Given the description of an element on the screen output the (x, y) to click on. 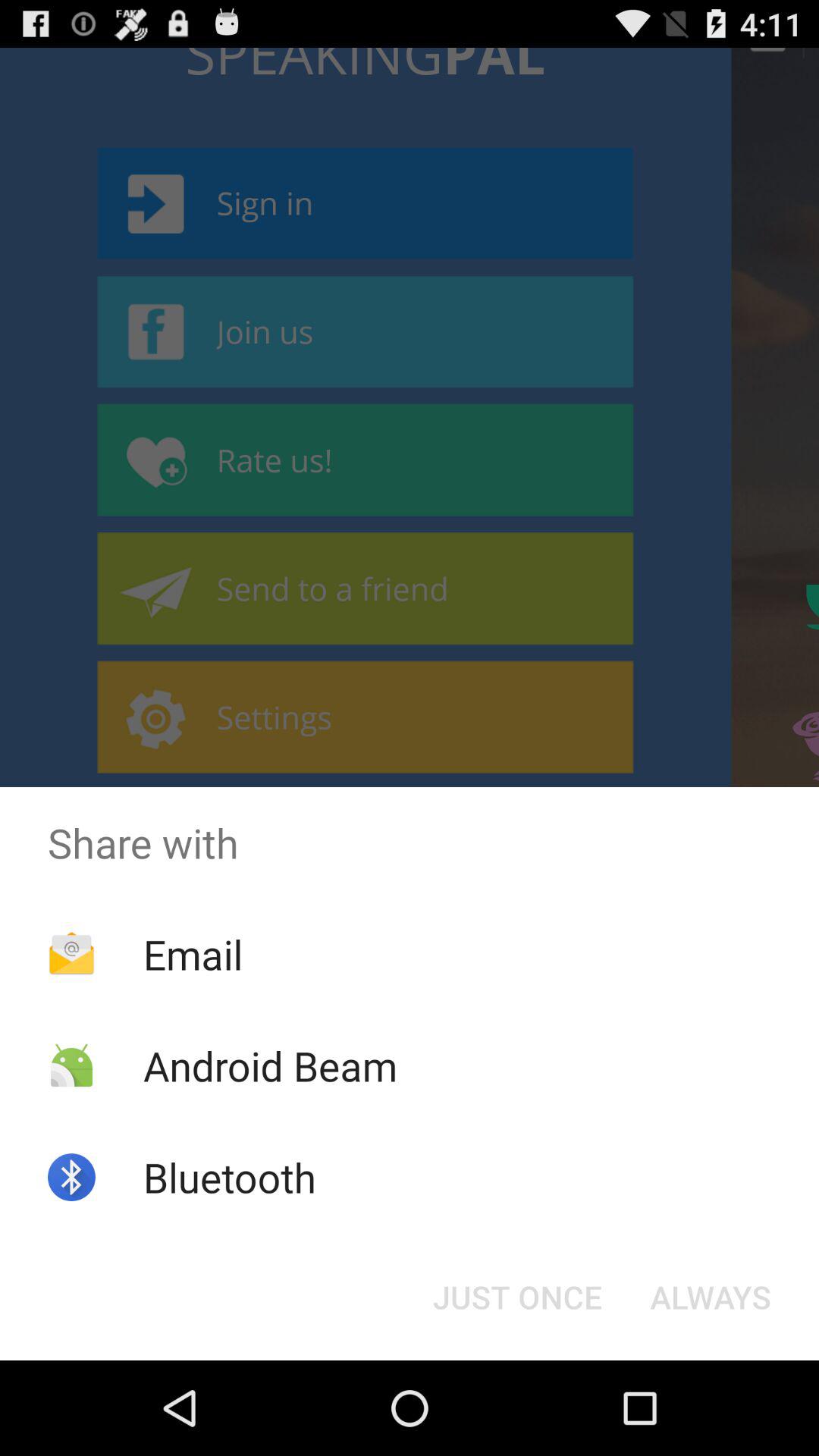
click the item at the bottom right corner (710, 1296)
